Given the description of an element on the screen output the (x, y) to click on. 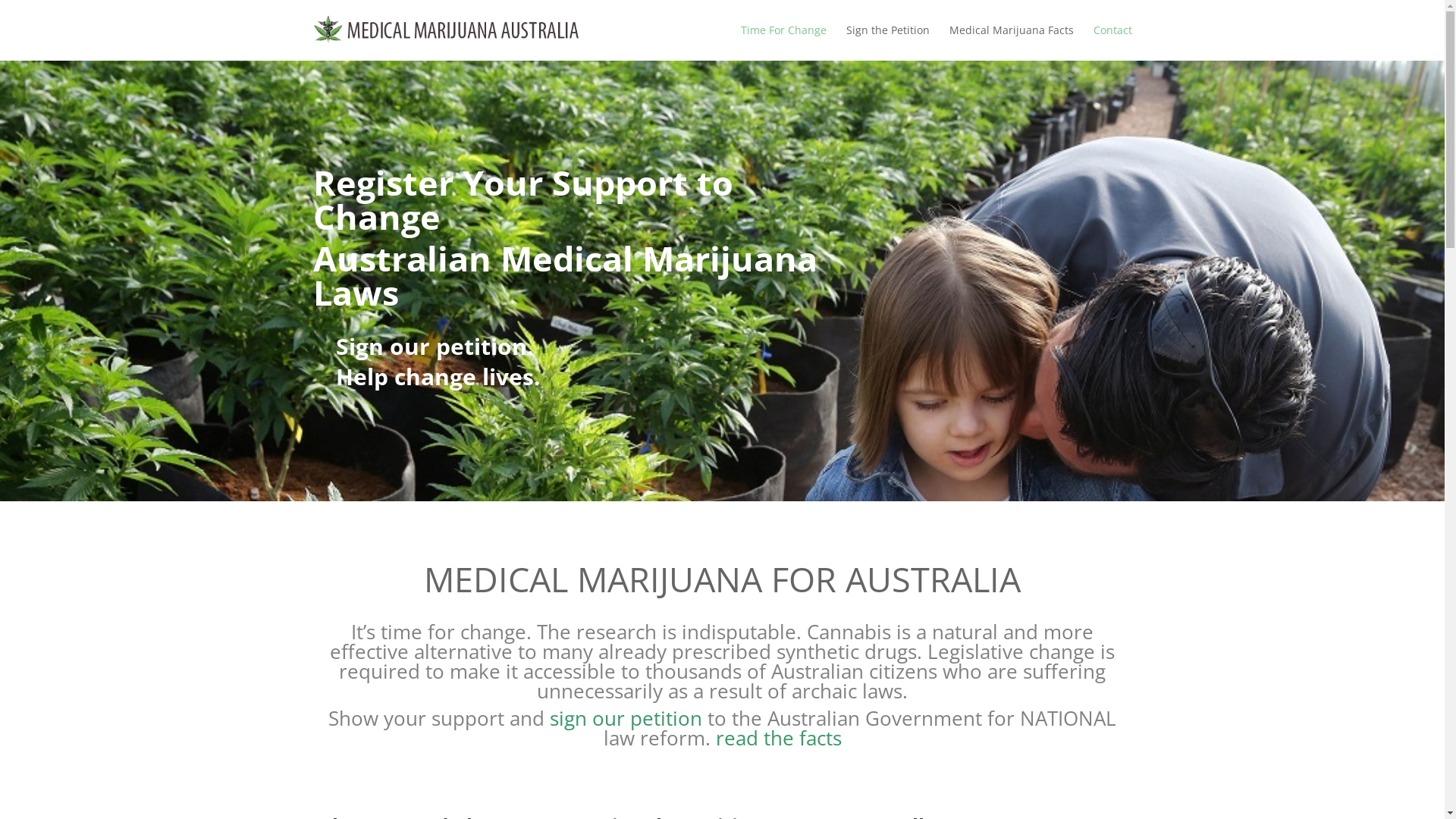
sign our petition Element type: text (625, 717)
Contact Element type: text (1112, 40)
Sign the Petition Element type: text (887, 40)
Help change lives. Element type: text (437, 376)
Sign our petition. Element type: text (434, 345)
Medical Marijuana Facts Element type: text (1011, 40)
read the facts Element type: text (778, 737)
Time For Change Element type: text (782, 40)
